Given the description of an element on the screen output the (x, y) to click on. 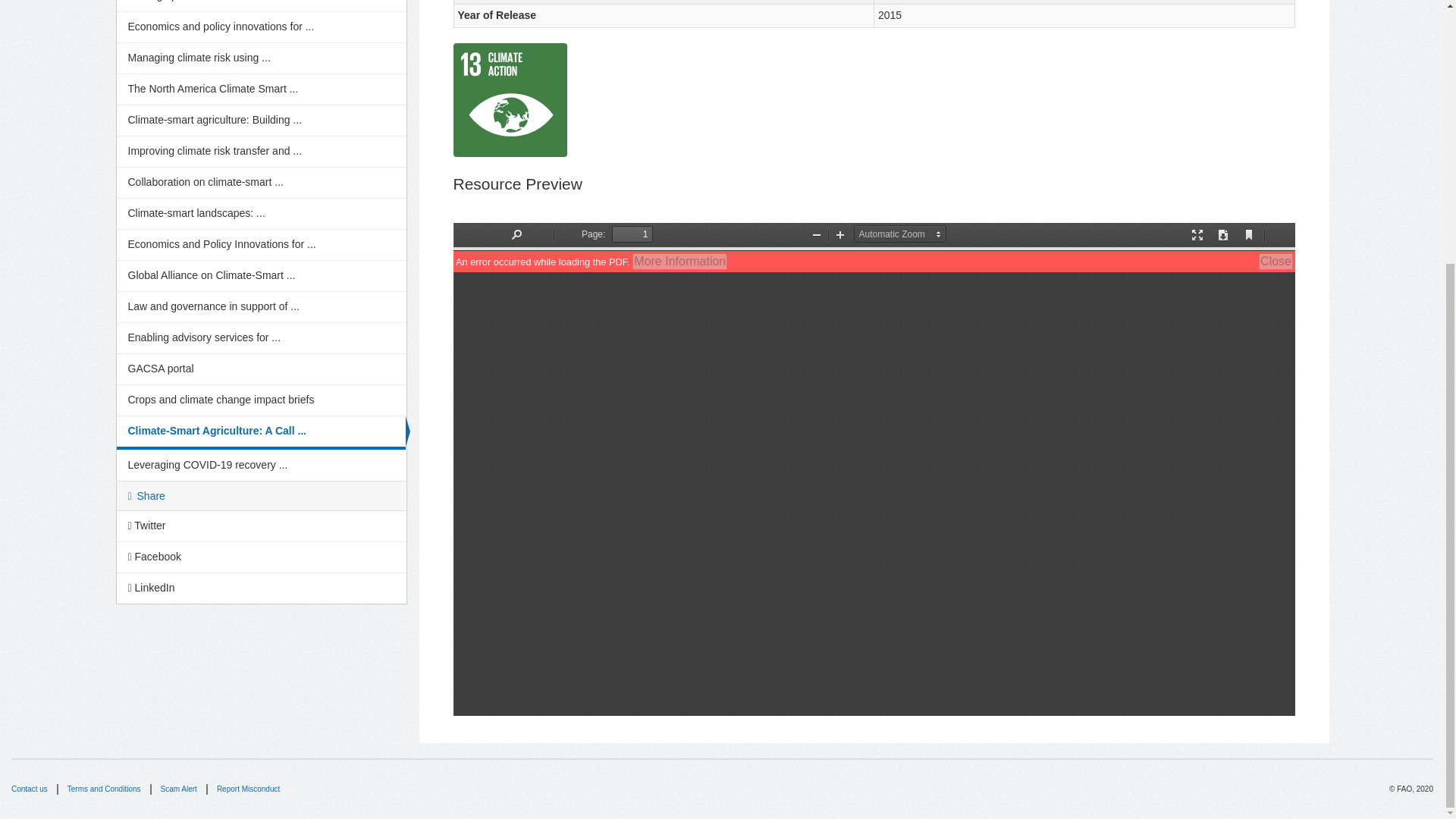
Facebook (261, 557)
Twitter (261, 526)
Economics and policy innovations for ... (261, 27)
Climate-smart agriculture: Building ... (261, 120)
LinkedIn (261, 588)
None (509, 100)
Climate-smart landscapes: ... (261, 214)
Climate-Smart Agriculture: A Call ... (261, 432)
Economics and Policy Innovations for ... (261, 245)
Law and governance in support of ... (261, 306)
Managing climate risk using ... (261, 58)
The North America Climate Smart ... (261, 89)
Crops and climate change impact briefs (261, 399)
Enabling advisory services for ... (261, 337)
Leveraging COVID-19 recovery ... (261, 465)
